Given the description of an element on the screen output the (x, y) to click on. 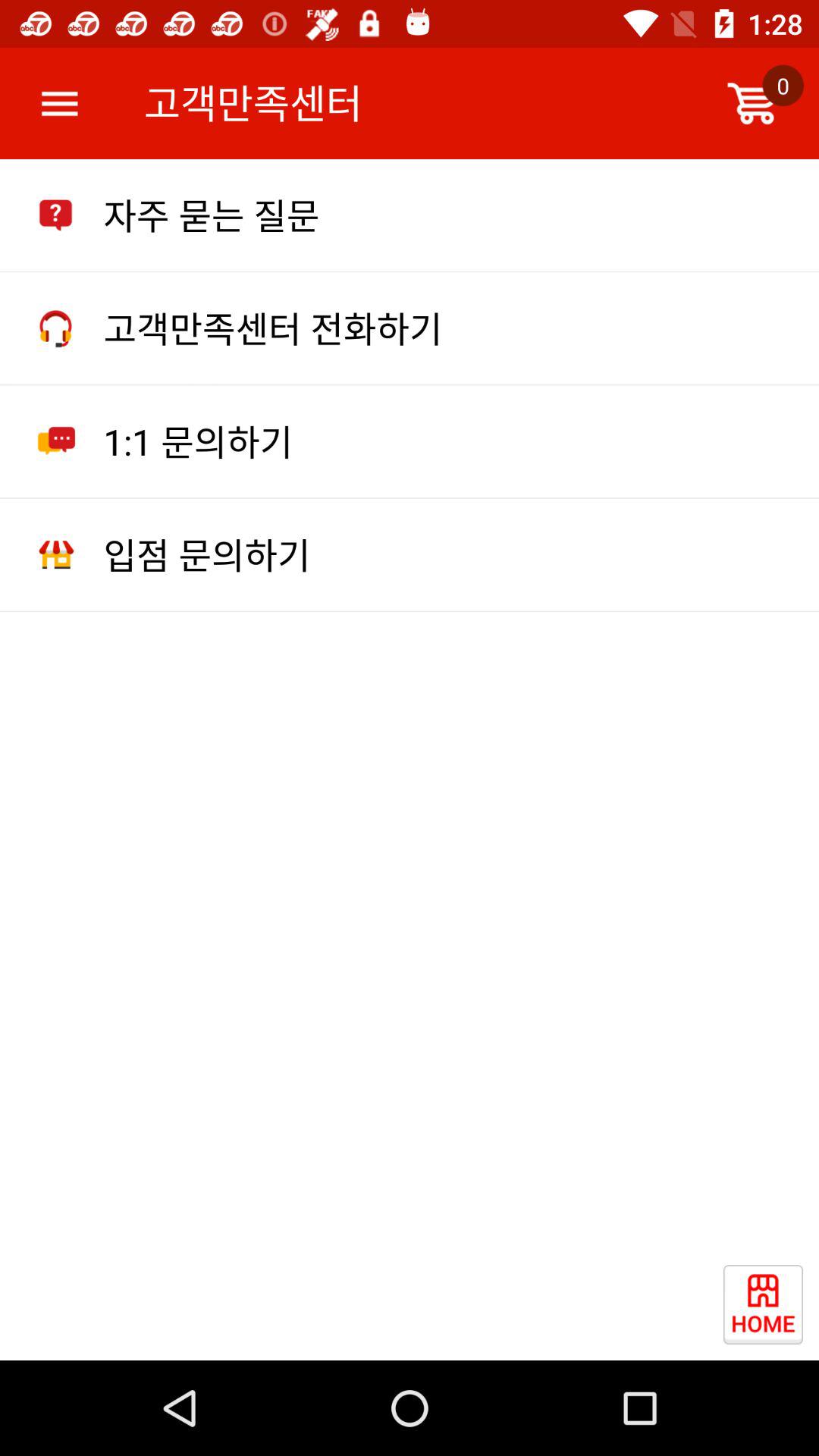
launch item at the bottom right corner (771, 1312)
